Given the description of an element on the screen output the (x, y) to click on. 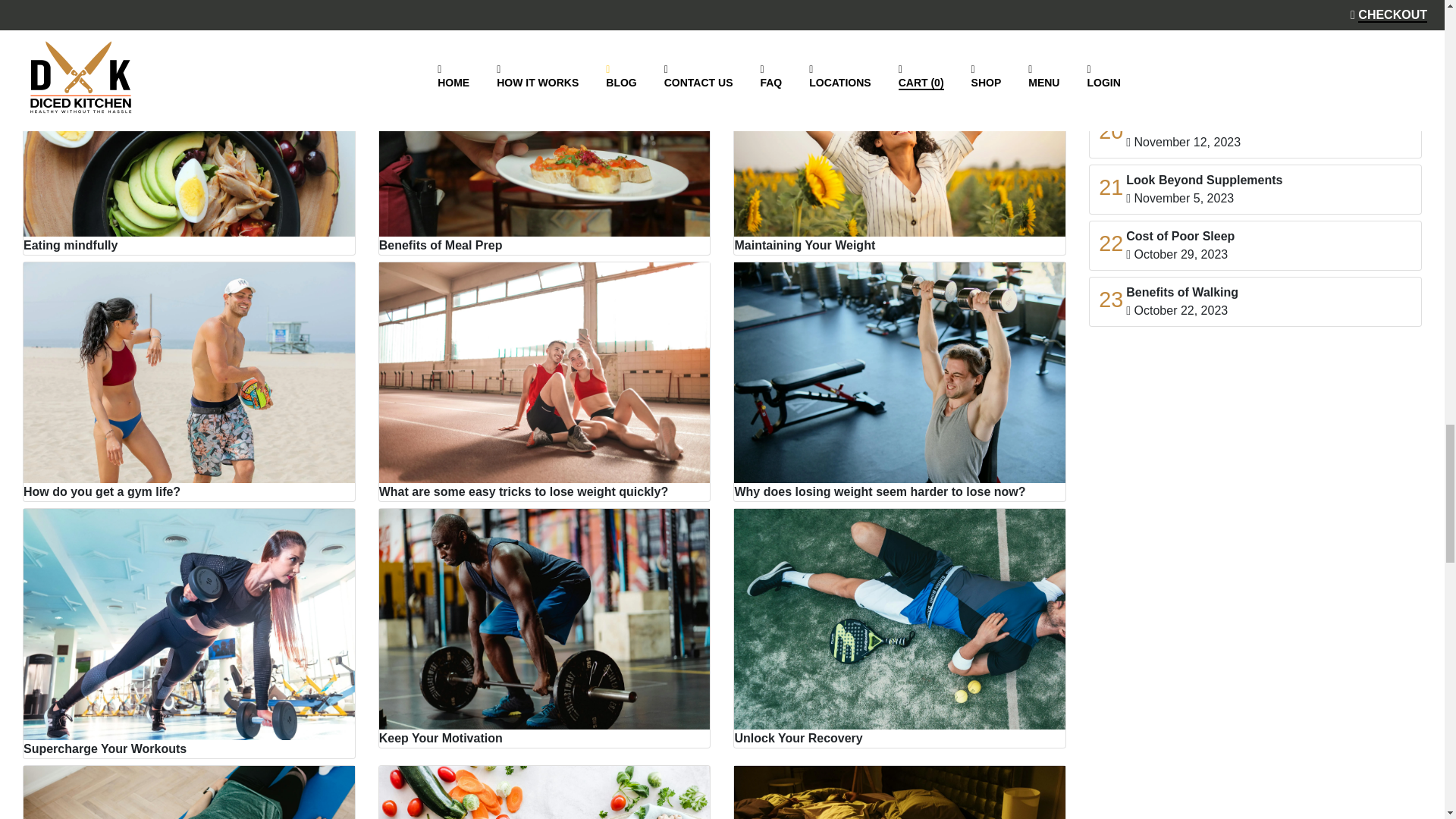
Benefits of Meal Prep (544, 134)
Supercharge Your Workouts (189, 633)
Sleep Right, Eat Right (189, 791)
Keep Your Motivation (544, 627)
What are some ways to keep a workout partner motivated? (544, 4)
How do you get a gym life? (189, 381)
What are some easy tricks to lose weight quickly? (544, 381)
Unlock Your Recovery (899, 627)
Why does losing weight seem harder to lose now? (899, 381)
Eating mindfully (189, 134)
Maintaining Your Weight (899, 134)
